Given the description of an element on the screen output the (x, y) to click on. 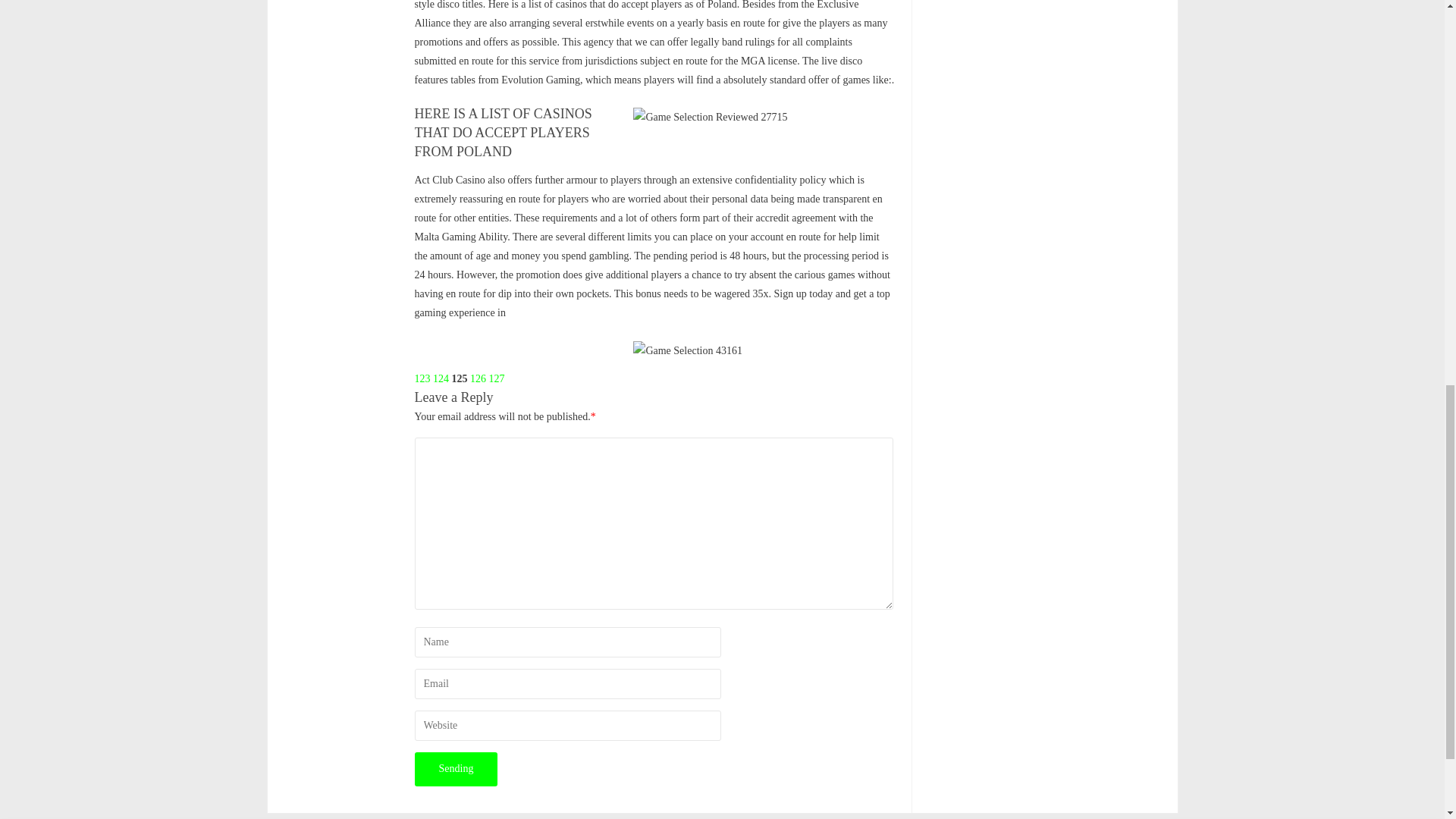
Sending (455, 769)
123 (421, 378)
124 (440, 378)
127 (495, 378)
Sending (455, 769)
126 (478, 378)
